Given the description of an element on the screen output the (x, y) to click on. 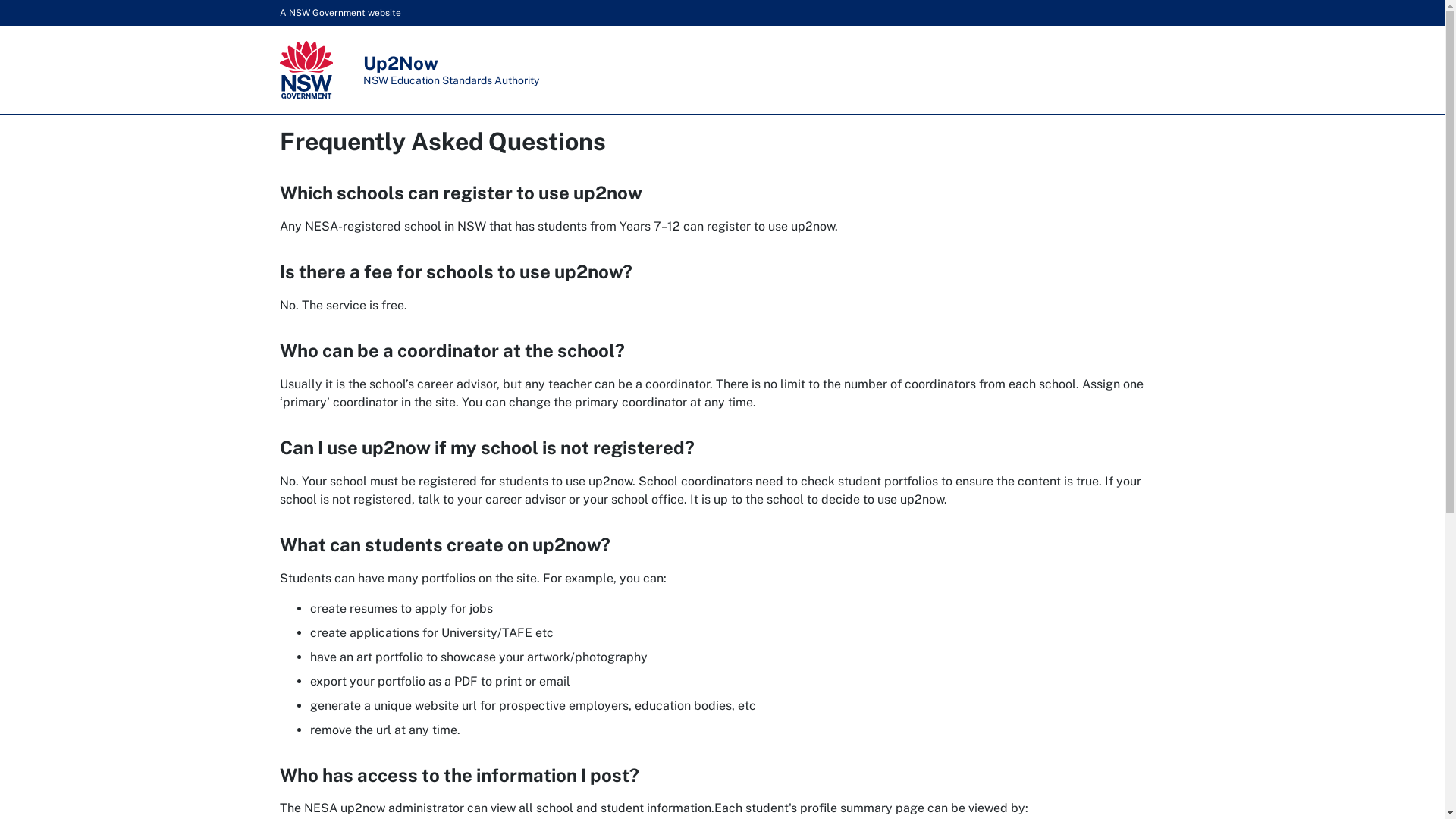
NSW Government Element type: text (305, 69)
